Given the description of an element on the screen output the (x, y) to click on. 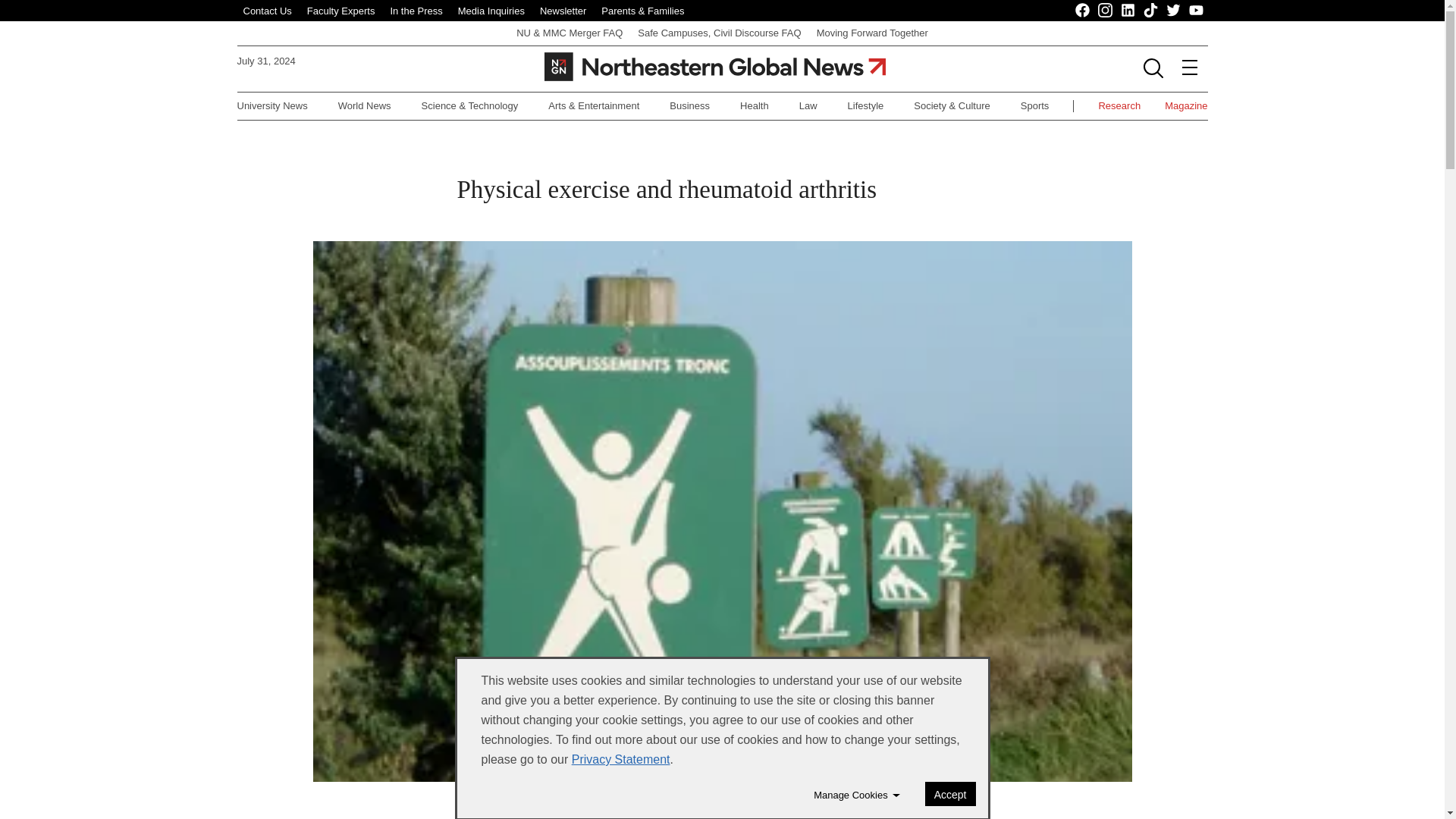
Safe Campuses, Civil Discourse FAQ (718, 32)
LinkedIn (1128, 10)
Privacy information (620, 758)
Moving Forward Together (872, 32)
Tiktok (1150, 10)
Newsletter (563, 10)
Facebook (1082, 10)
Contact Us (267, 10)
Instagram (1105, 10)
Twitter (1173, 10)
In the Press (416, 10)
Faculty Experts (341, 10)
Youtube (1196, 10)
Media Inquiries (491, 10)
